Given the description of an element on the screen output the (x, y) to click on. 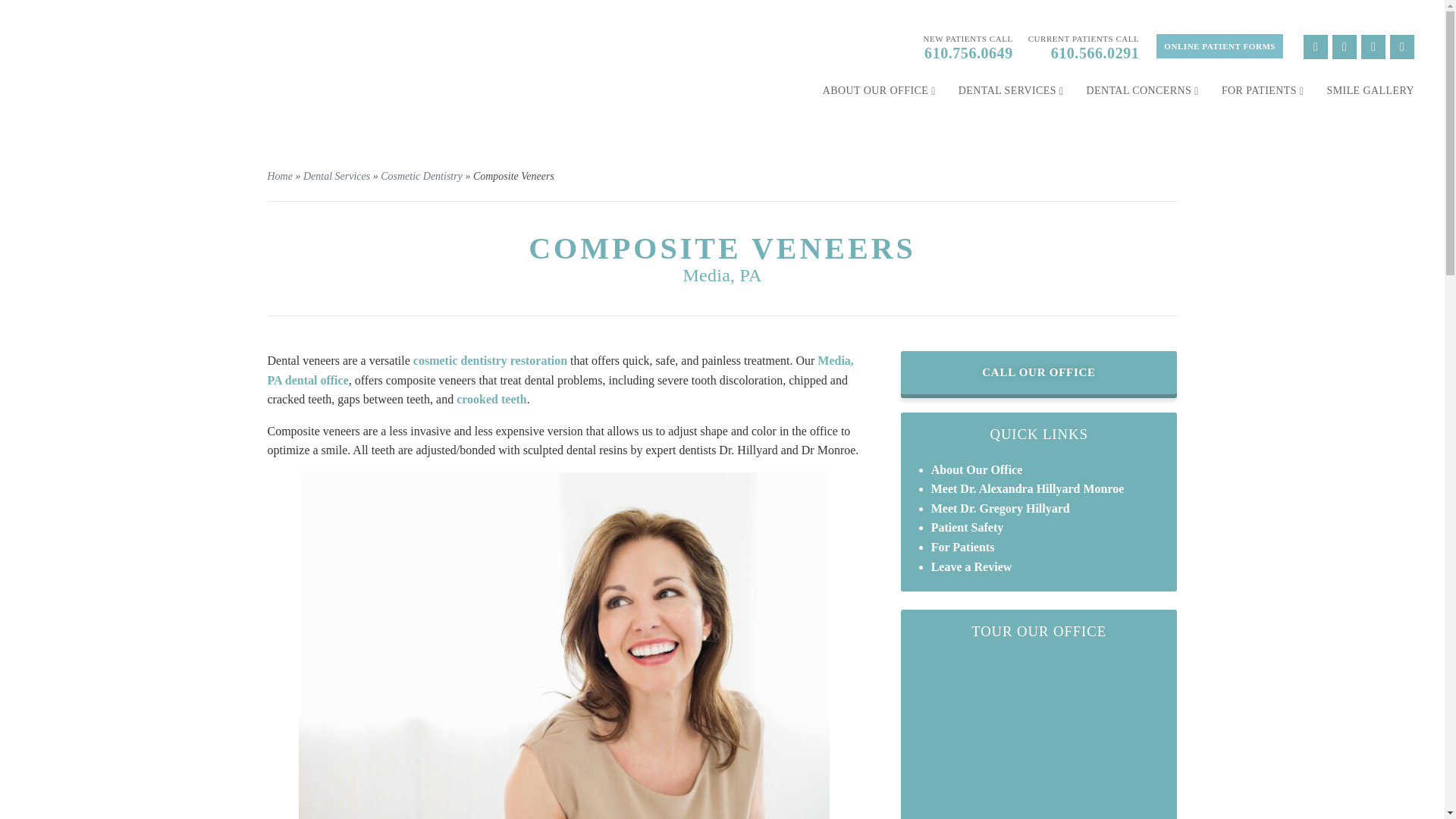
DENTAL CONCERNS (1142, 90)
DENTAL SERVICES (1011, 90)
ABOUT OUR OFFICE (879, 90)
ONLINE PATIENT FORMS (1219, 45)
